Given the description of an element on the screen output the (x, y) to click on. 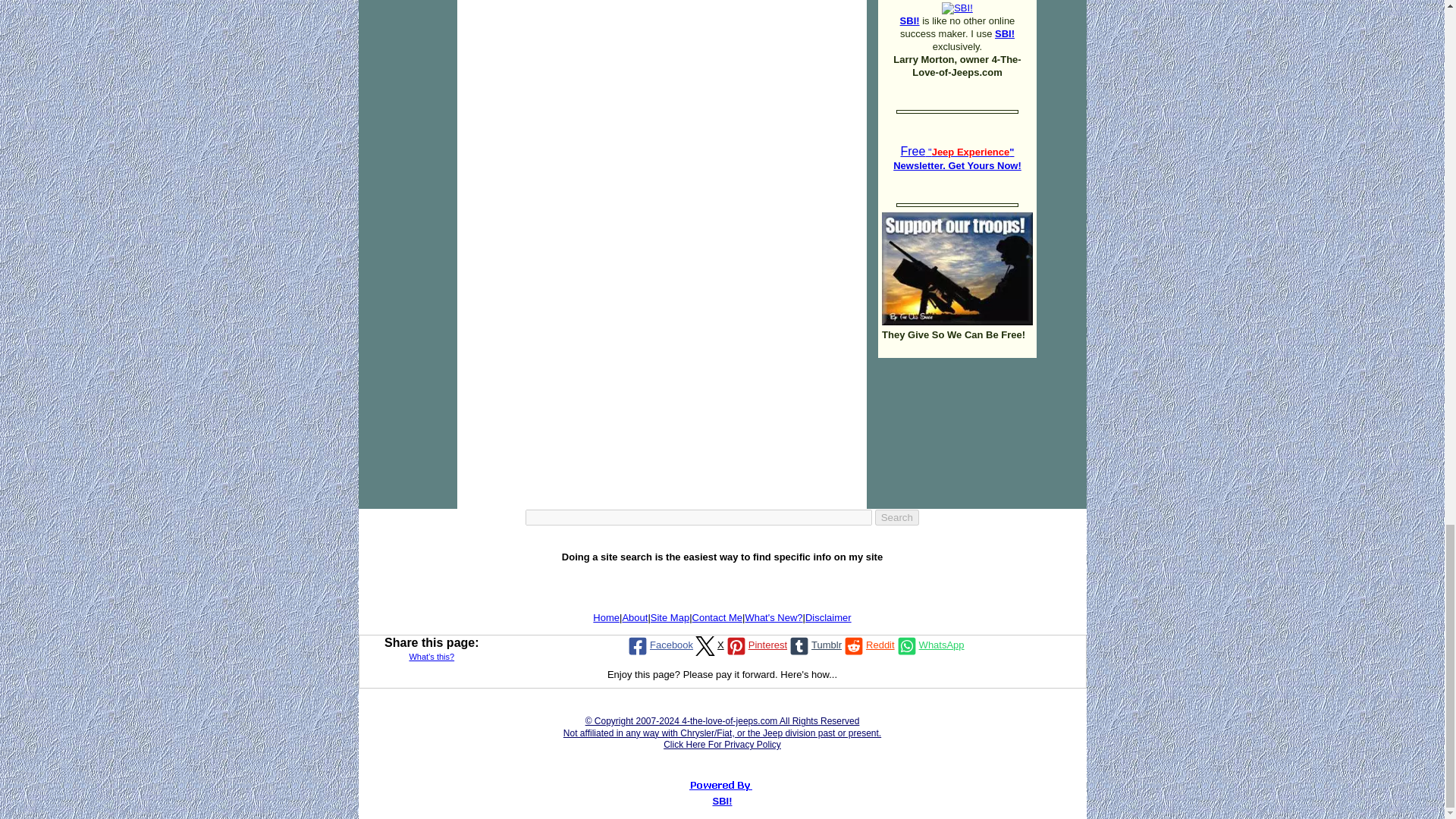
Privacy Policy Page! (721, 732)
Search (896, 517)
